Given the description of an element on the screen output the (x, y) to click on. 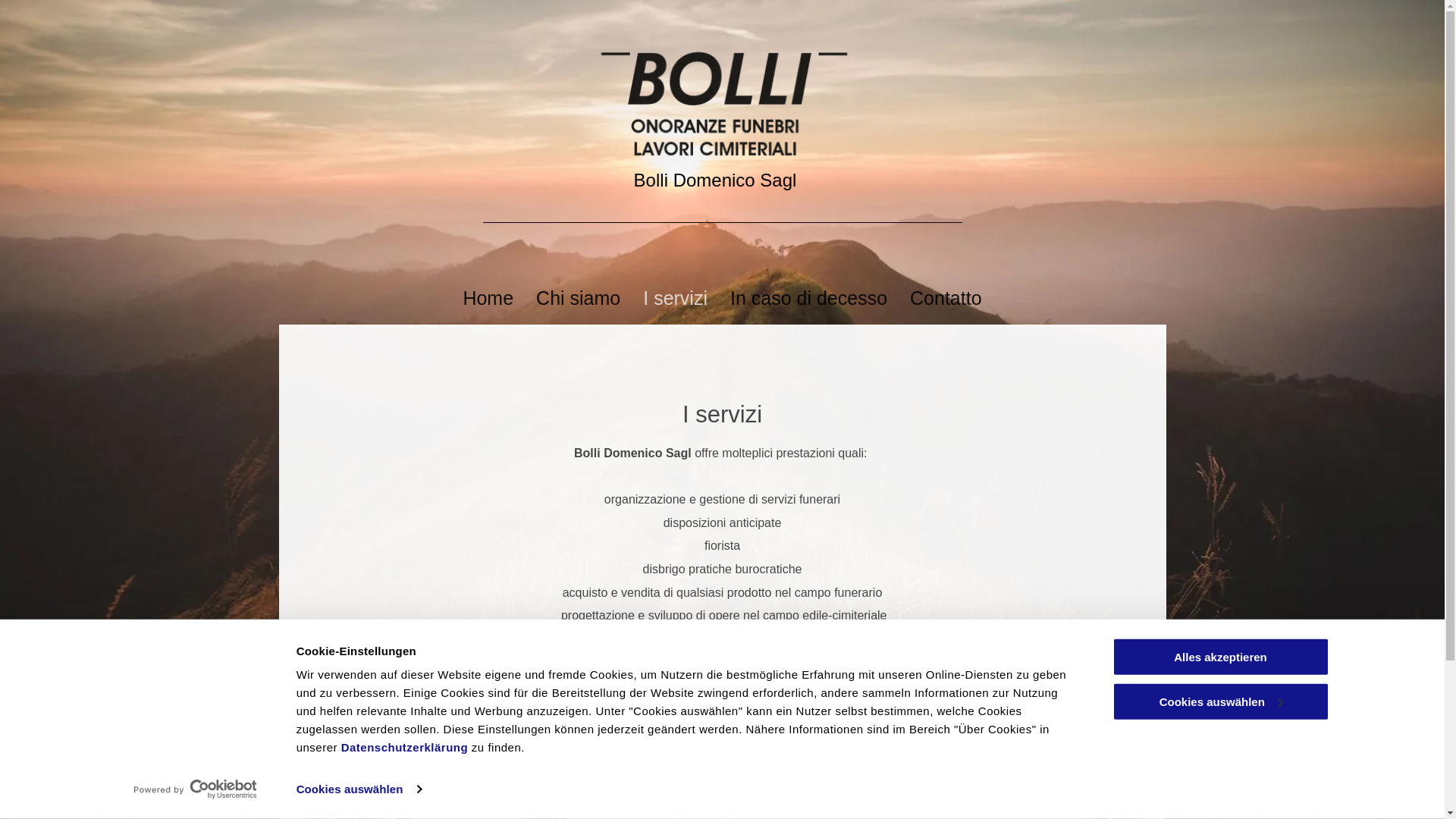
Alles akzeptieren Element type: text (1219, 656)
Home Element type: text (487, 298)
Chi siamo Element type: text (578, 298)
In caso di decesso Element type: text (808, 298)
Contatto Element type: text (946, 298)
I servizi Element type: text (675, 298)
